Given the description of an element on the screen output the (x, y) to click on. 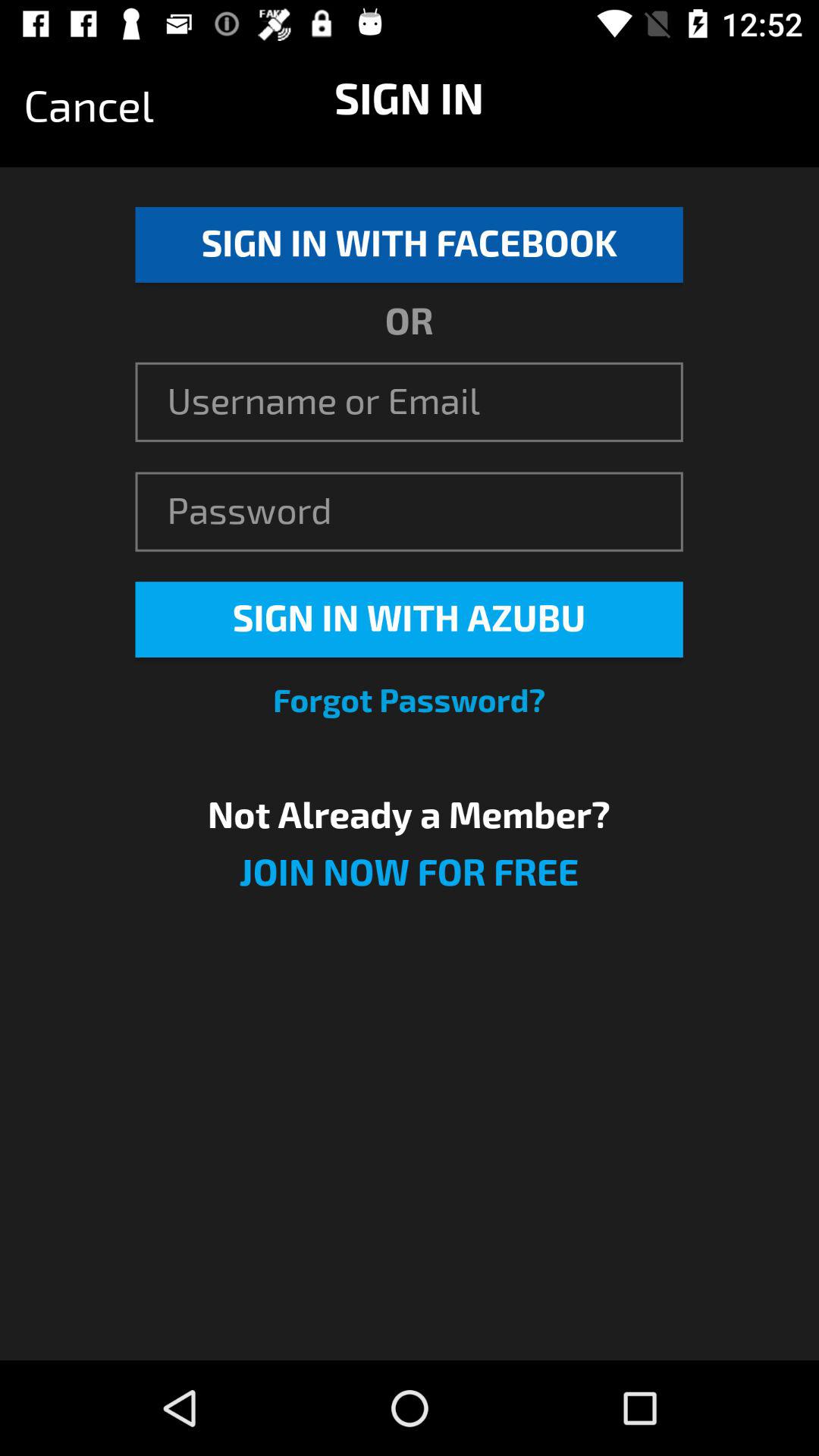
tap the icon next to sign in item (89, 107)
